Given the description of an element on the screen output the (x, y) to click on. 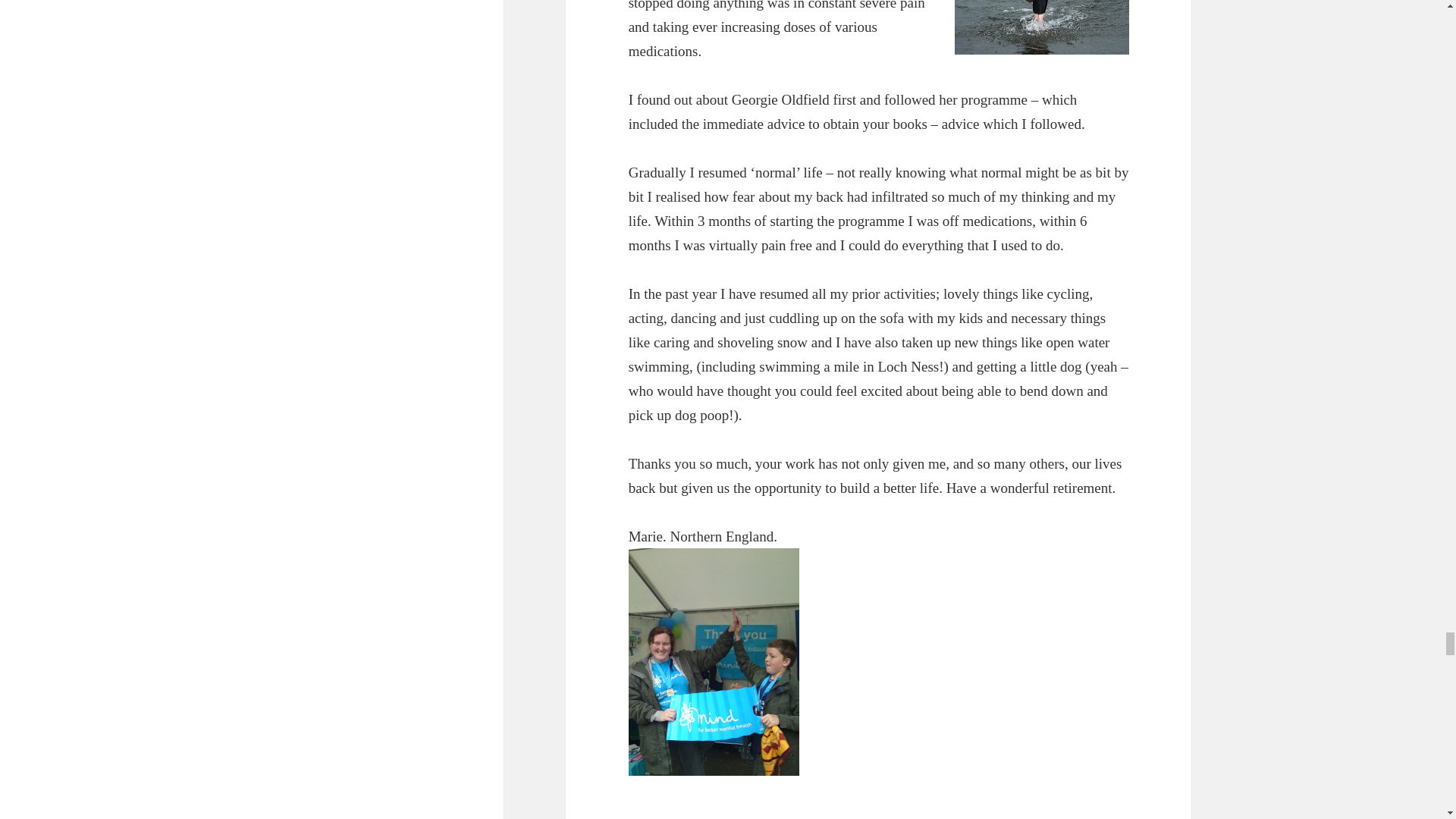
Marie Swimming (1042, 27)
